Given the description of an element on the screen output the (x, y) to click on. 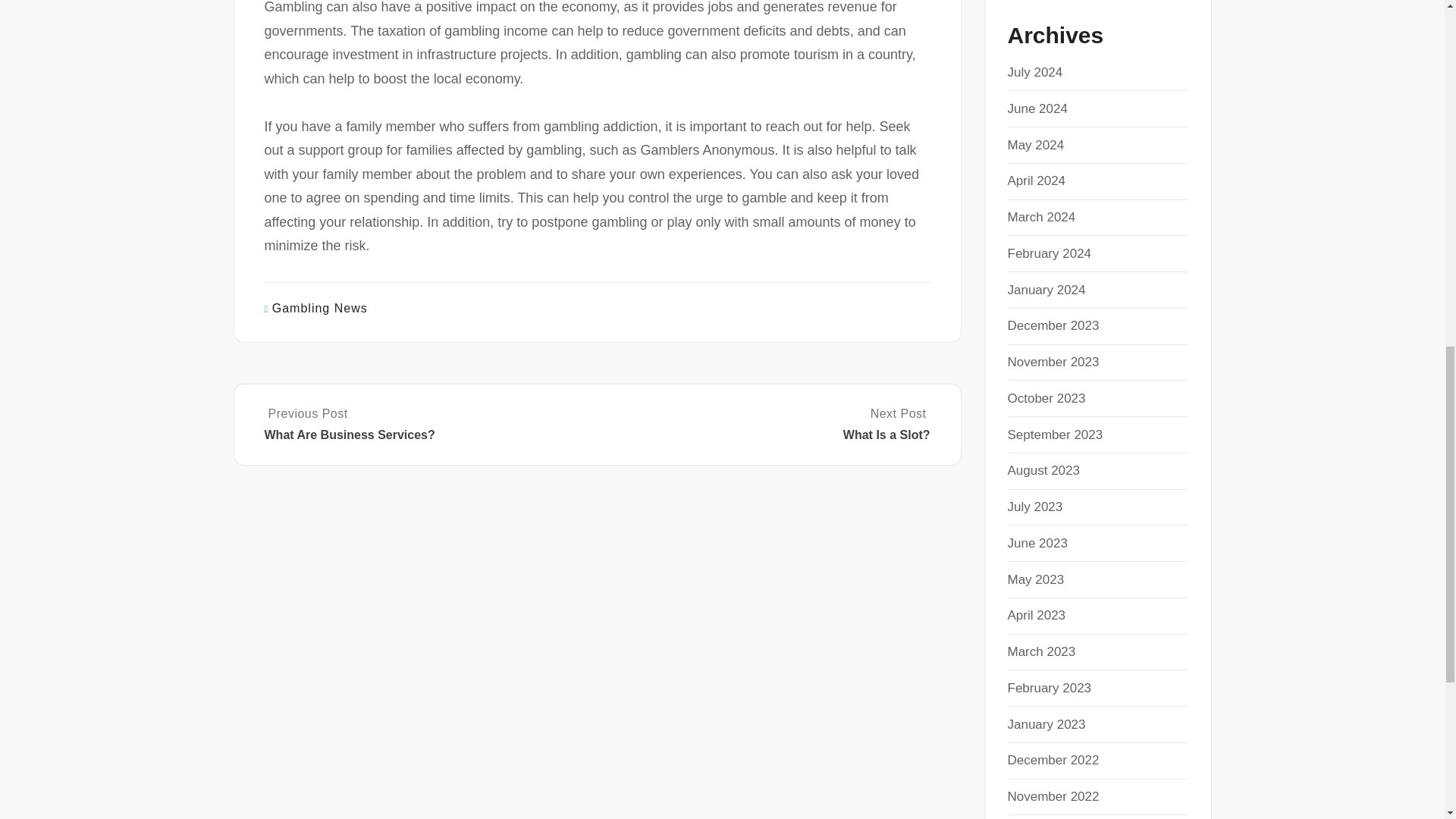
December 2022 (1053, 759)
October 2023 (1045, 398)
March 2024 (1041, 216)
June 2023 (1037, 543)
November 2023 (1053, 361)
June 2024 (764, 424)
April 2023 (1037, 108)
March 2023 (1036, 615)
May 2024 (1041, 651)
Gambling News (1035, 145)
January 2024 (320, 308)
July 2024 (1045, 289)
September 2023 (1034, 72)
